Given the description of an element on the screen output the (x, y) to click on. 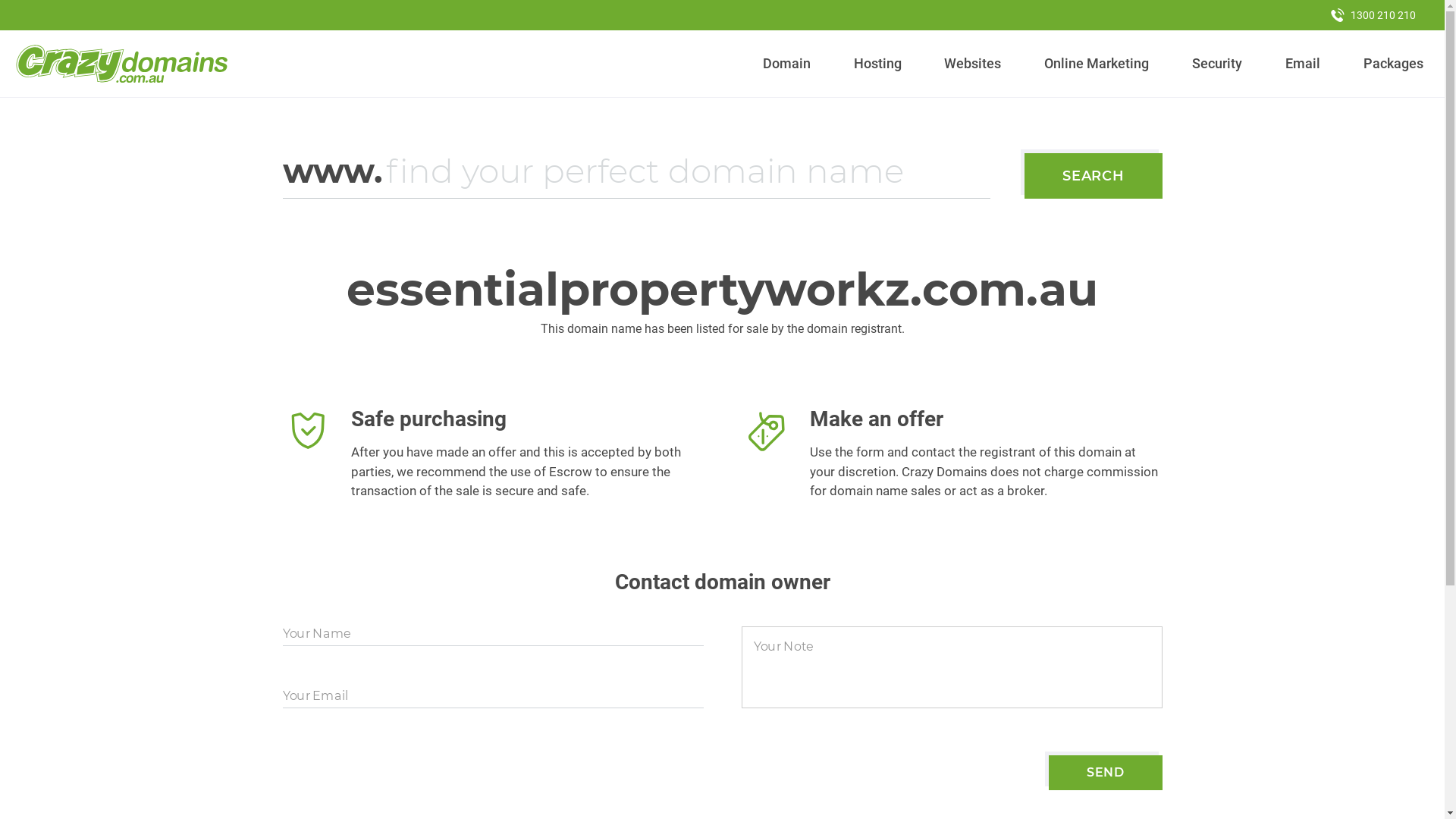
Packages Element type: text (1392, 63)
SEARCH Element type: text (1092, 175)
Security Element type: text (1217, 63)
SEND Element type: text (1105, 772)
Hosting Element type: text (877, 63)
Online Marketing Element type: text (1096, 63)
Domain Element type: text (786, 63)
1300 210 210 Element type: text (1373, 15)
Websites Element type: text (972, 63)
Email Element type: text (1302, 63)
